Given the description of an element on the screen output the (x, y) to click on. 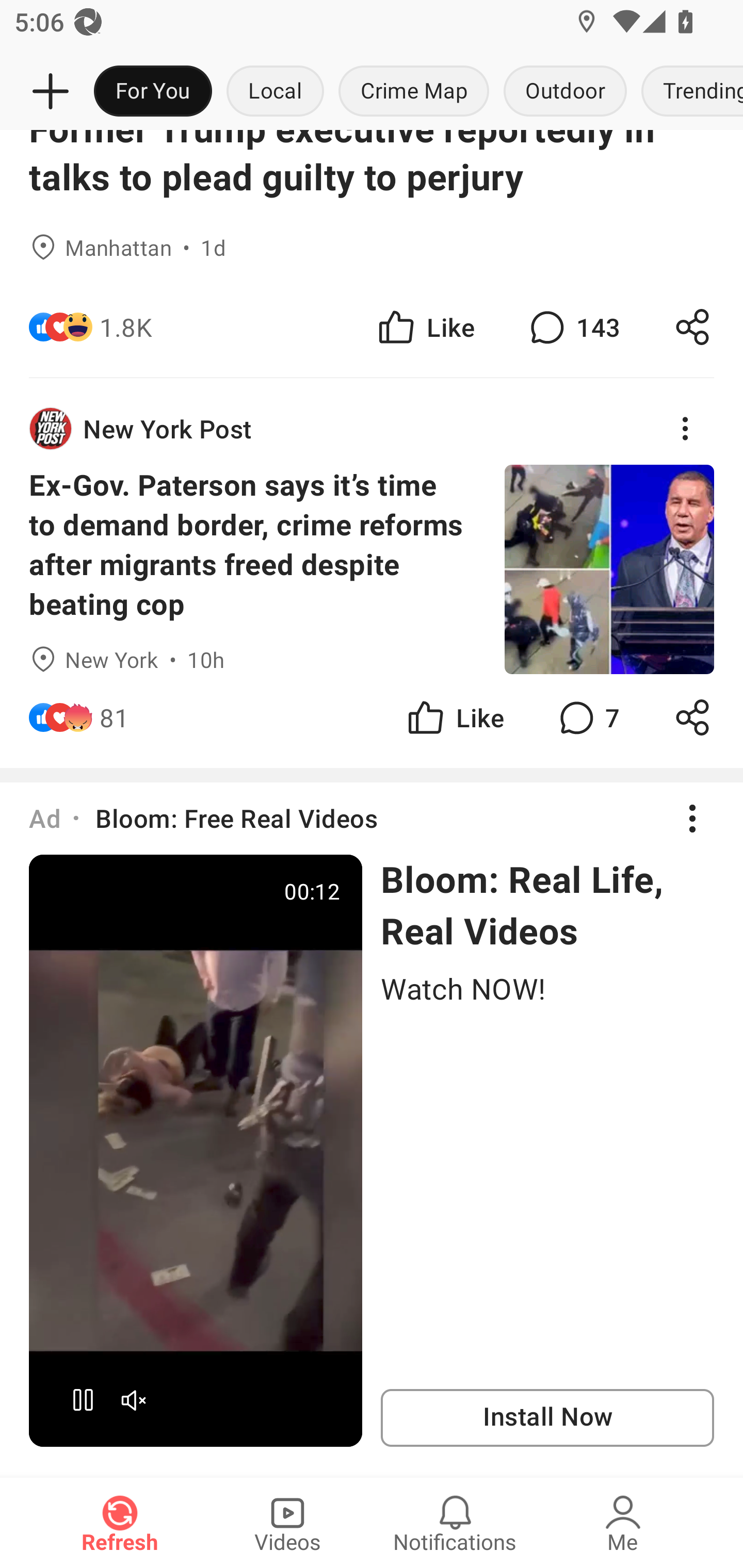
For You (152, 91)
Local (275, 91)
Crime Map (413, 91)
Outdoor (564, 91)
Trending (688, 91)
1.8K (125, 326)
Like (425, 326)
143 (572, 326)
81 (114, 717)
Like (454, 717)
7 (587, 717)
Bloom: Free Real Videos (236, 818)
00:12 (195, 1150)
Bloom: Real Life, Real Videos (547, 904)
Watch NOW! (547, 988)
Install Now (547, 1418)
Videos (287, 1522)
Notifications (455, 1522)
Me (622, 1522)
